Given the description of an element on the screen output the (x, y) to click on. 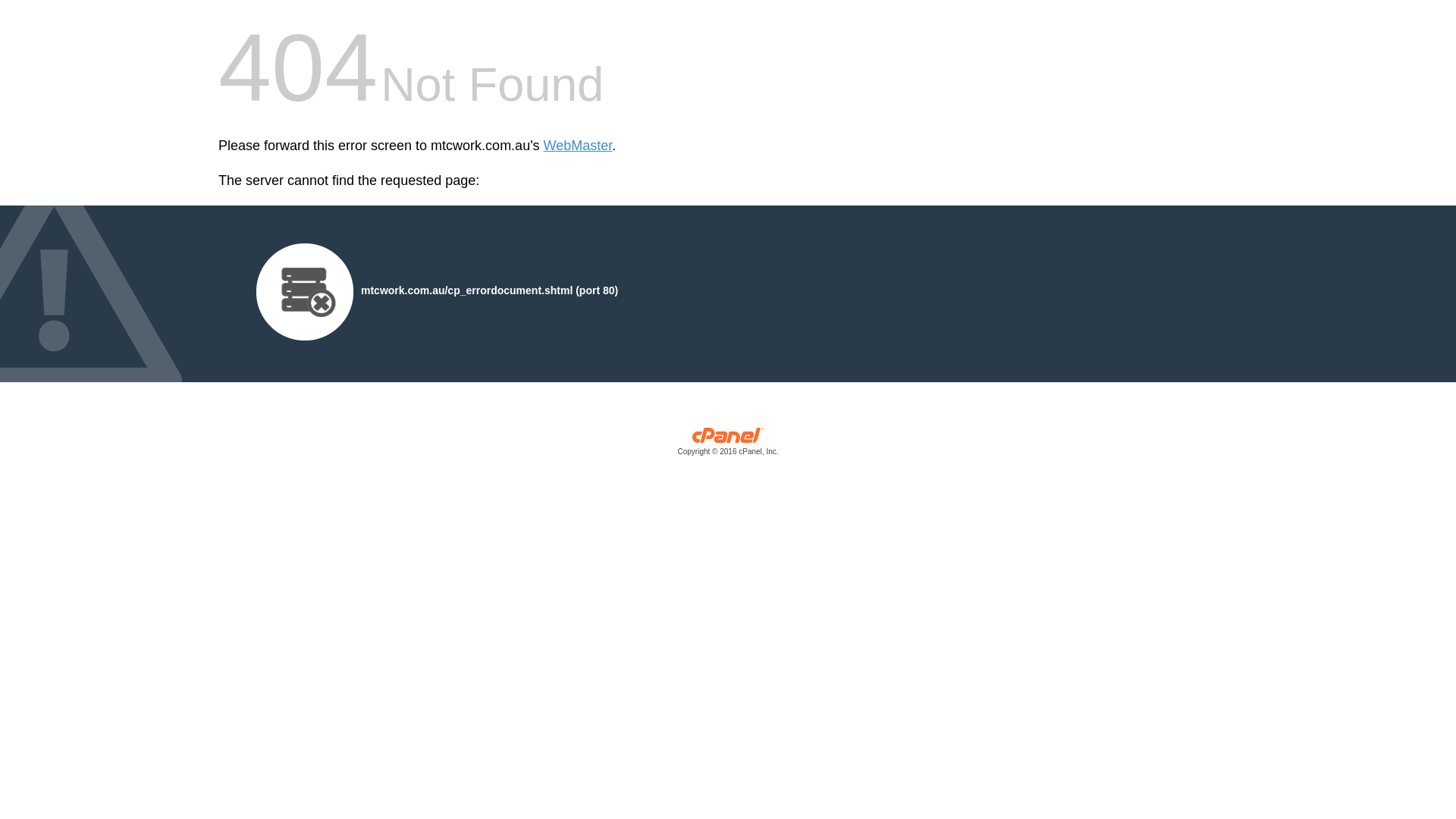
WebMaster Element type: text (577, 145)
